Given the description of an element on the screen output the (x, y) to click on. 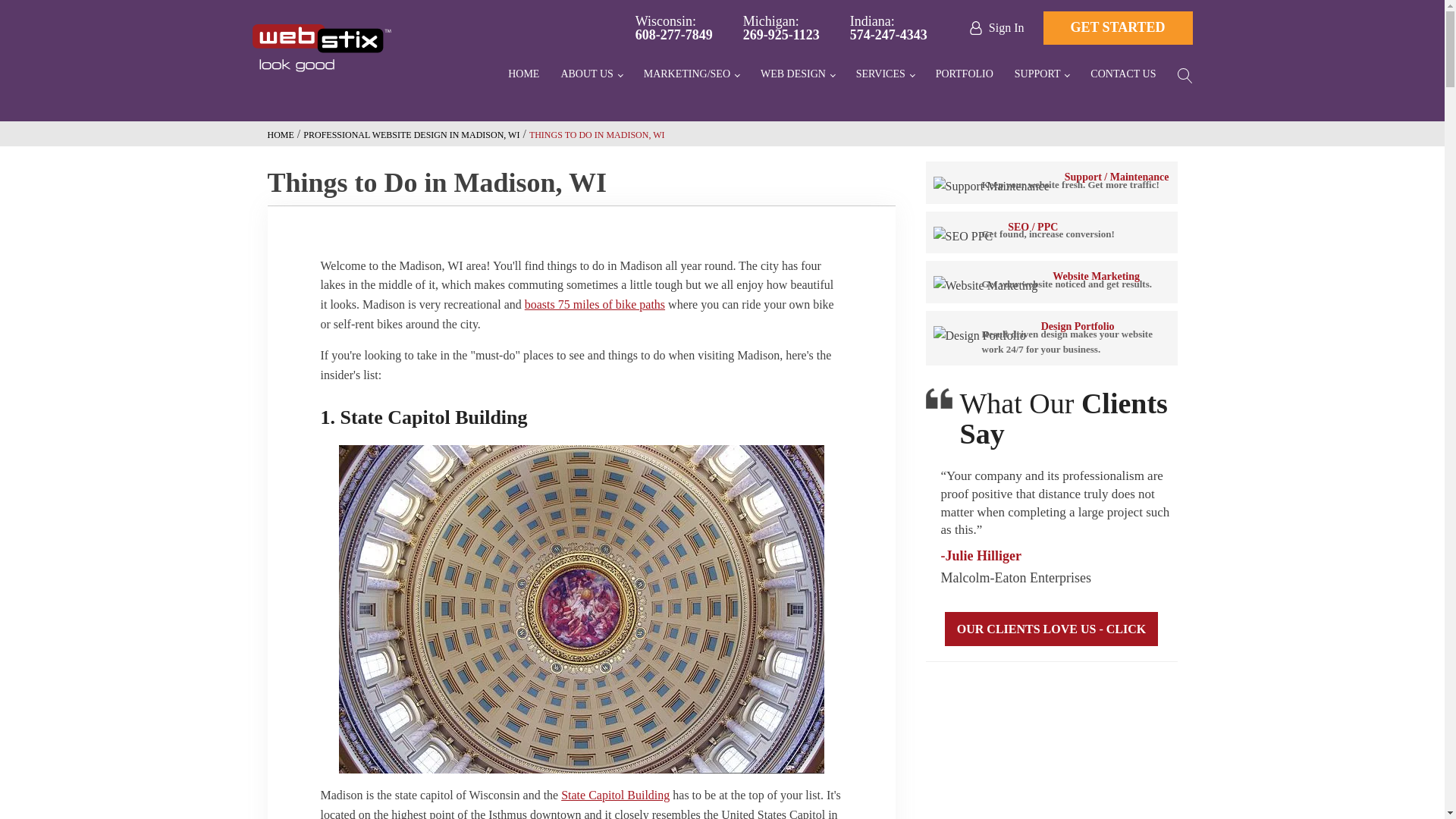
WEB DESIGN (673, 27)
HOME (780, 27)
ABOUT US (797, 76)
Sign In (523, 76)
GET STARTED (888, 27)
